Given the description of an element on the screen output the (x, y) to click on. 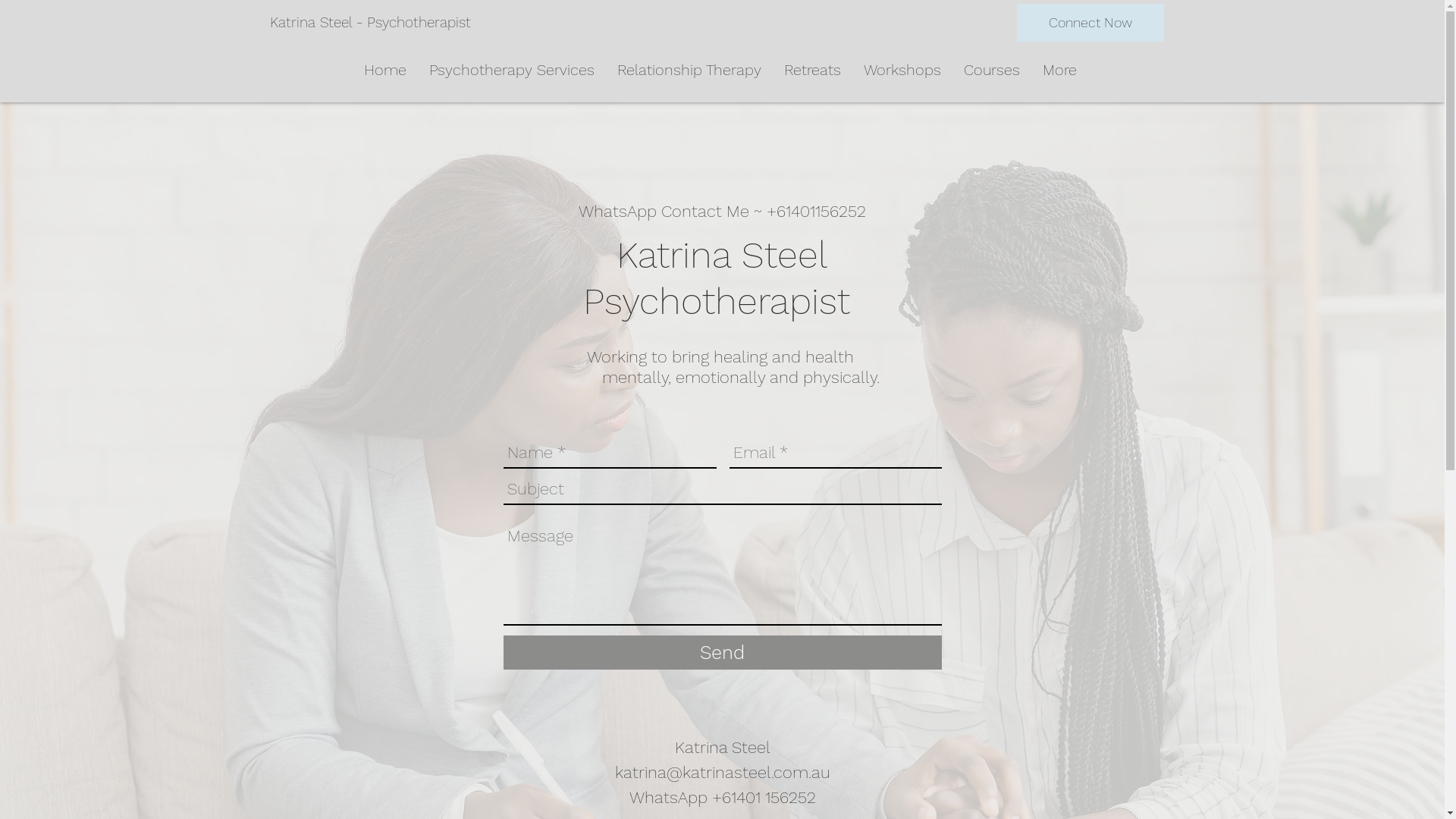
Retreats Element type: text (811, 69)
katrina@katrinasteel.com.au Element type: text (722, 771)
Relationship Therapy Element type: text (688, 69)
Connect Now Element type: text (1089, 22)
Workshops Element type: text (902, 69)
Home Element type: text (384, 69)
Courses Element type: text (991, 69)
Psychotherapy Services Element type: text (511, 69)
Send Element type: text (722, 652)
Katrina Steel - Psychotherapist Element type: text (369, 22)
